Given the description of an element on the screen output the (x, y) to click on. 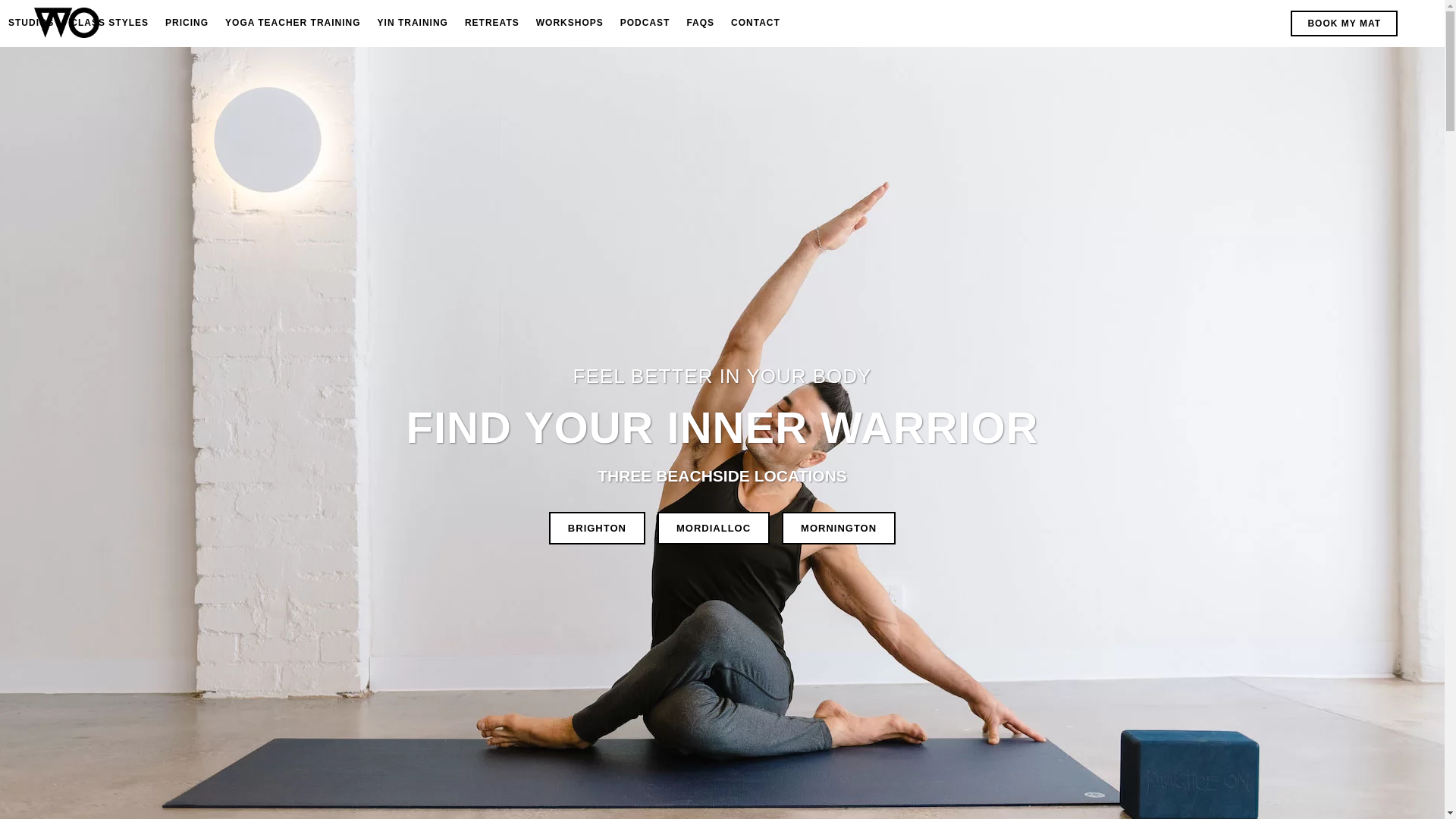
WORKSHOPS (569, 22)
CLASS STYLES (109, 22)
PRICING (186, 22)
BOOK MY MAT (1343, 23)
YOGA TEACHER TRAINING (292, 22)
STUDIOS (31, 22)
PODCAST (644, 22)
RETREATS (492, 22)
FAQS (700, 22)
book my mat (1343, 23)
YIN TRAINING (413, 22)
CONTACT (755, 22)
